Given the description of an element on the screen output the (x, y) to click on. 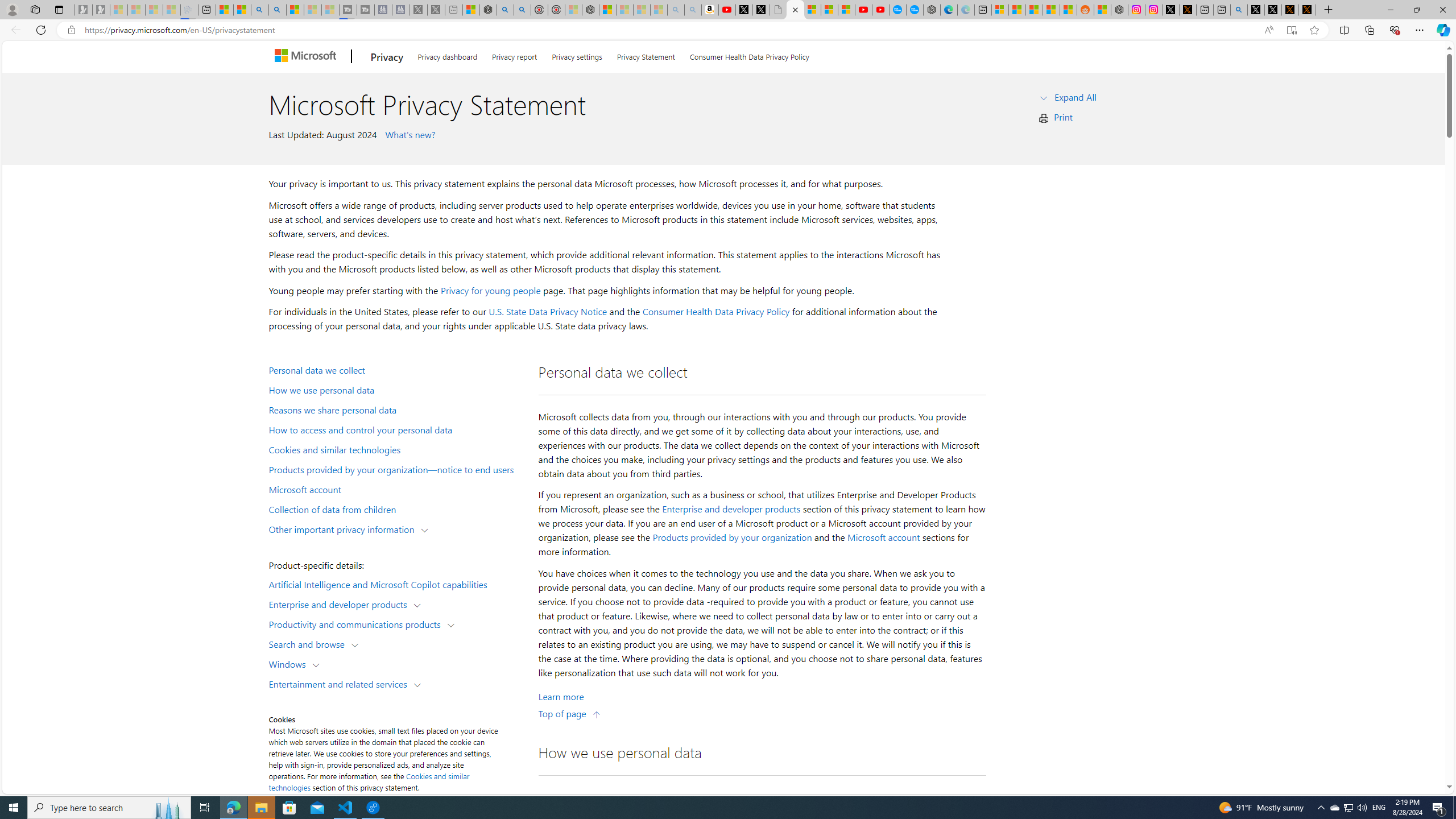
Collection of data from children (395, 508)
Productivity and communications products (356, 623)
Newsletter Sign Up - Sleeping (101, 9)
Privacy report (514, 54)
Privacy for young people (489, 290)
GitHub (@github) / X (1273, 9)
Personal data we collect (395, 368)
Untitled (778, 9)
